Given the description of an element on the screen output the (x, y) to click on. 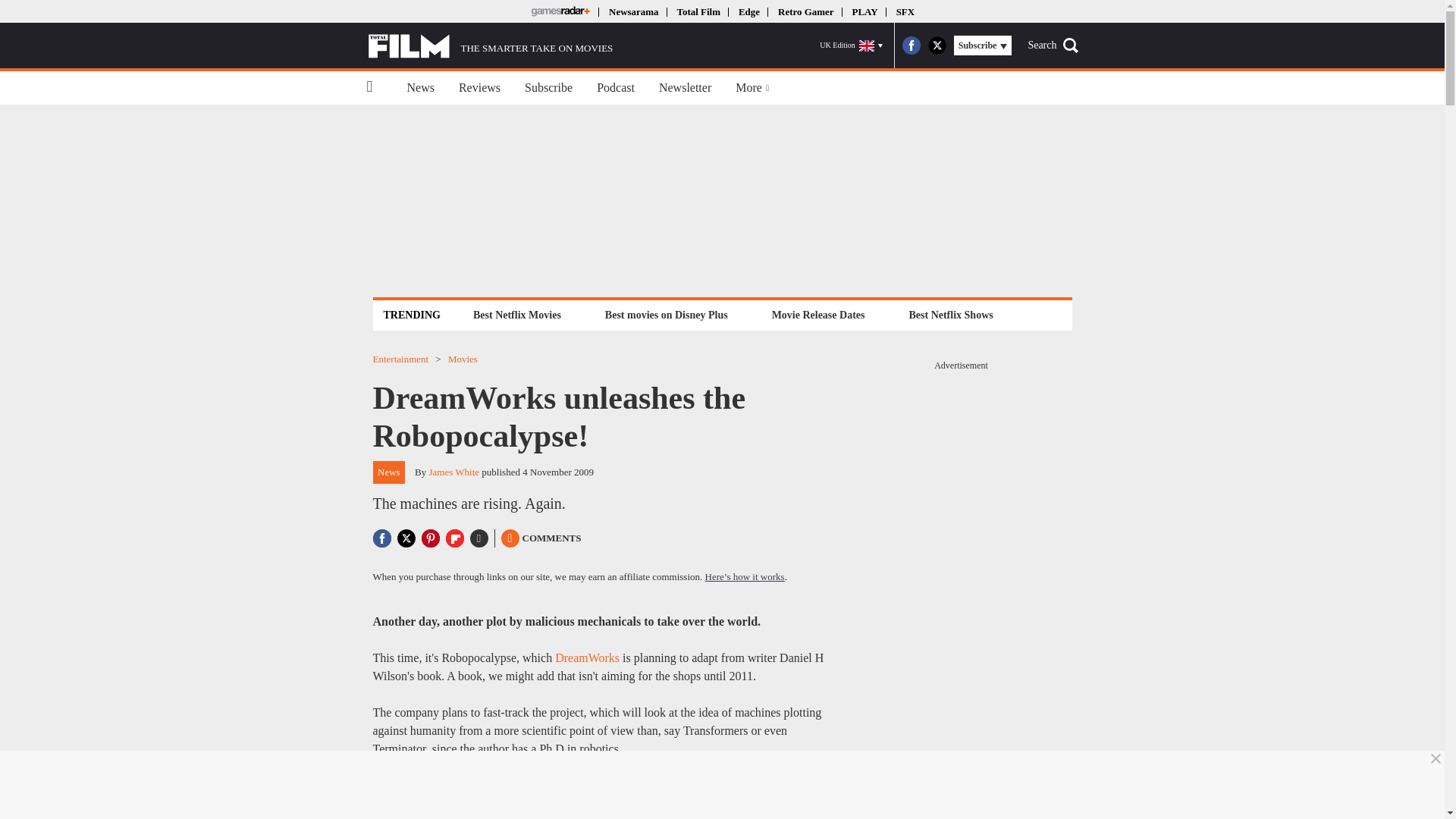
Subscribe (548, 87)
Reviews (479, 87)
UK Edition (850, 45)
News (419, 87)
Retro Gamer (805, 11)
Edge (749, 11)
Movie Release Dates (818, 314)
Best Netflix Movies (516, 314)
Podcast (615, 87)
Newsarama (633, 11)
Best movies on Disney Plus (666, 314)
PLAY (864, 11)
